Given the description of an element on the screen output the (x, y) to click on. 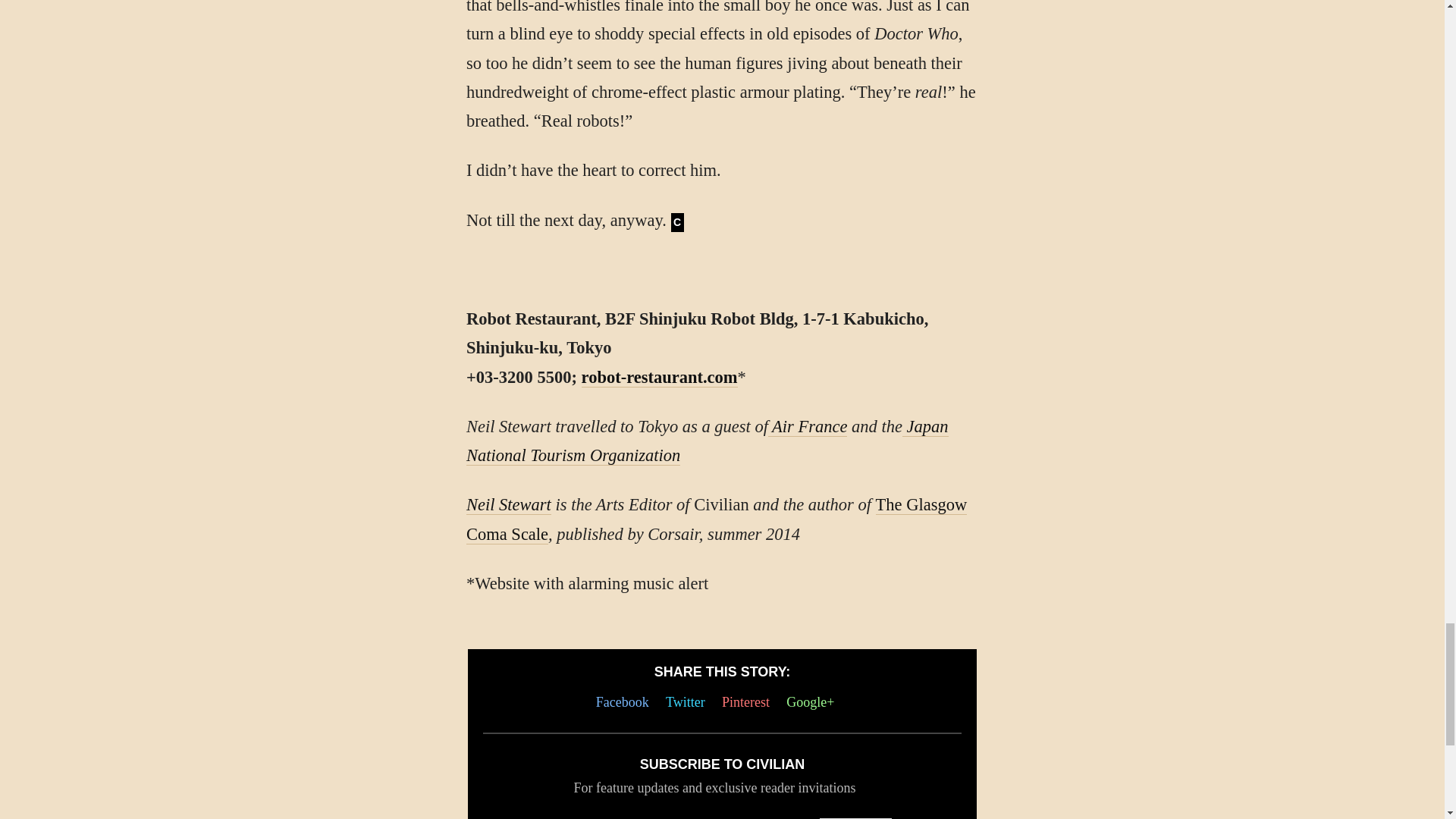
Facebook (625, 702)
Pinterest (749, 702)
Subscribe (855, 818)
Share this story on Pinterest (749, 702)
Twitter (689, 702)
The Glasgow Coma Scale (715, 519)
Subscribe (855, 818)
Japan National Tourism Organization (707, 441)
Share on Twitter (689, 702)
Share on Facebook (625, 702)
